Given the description of an element on the screen output the (x, y) to click on. 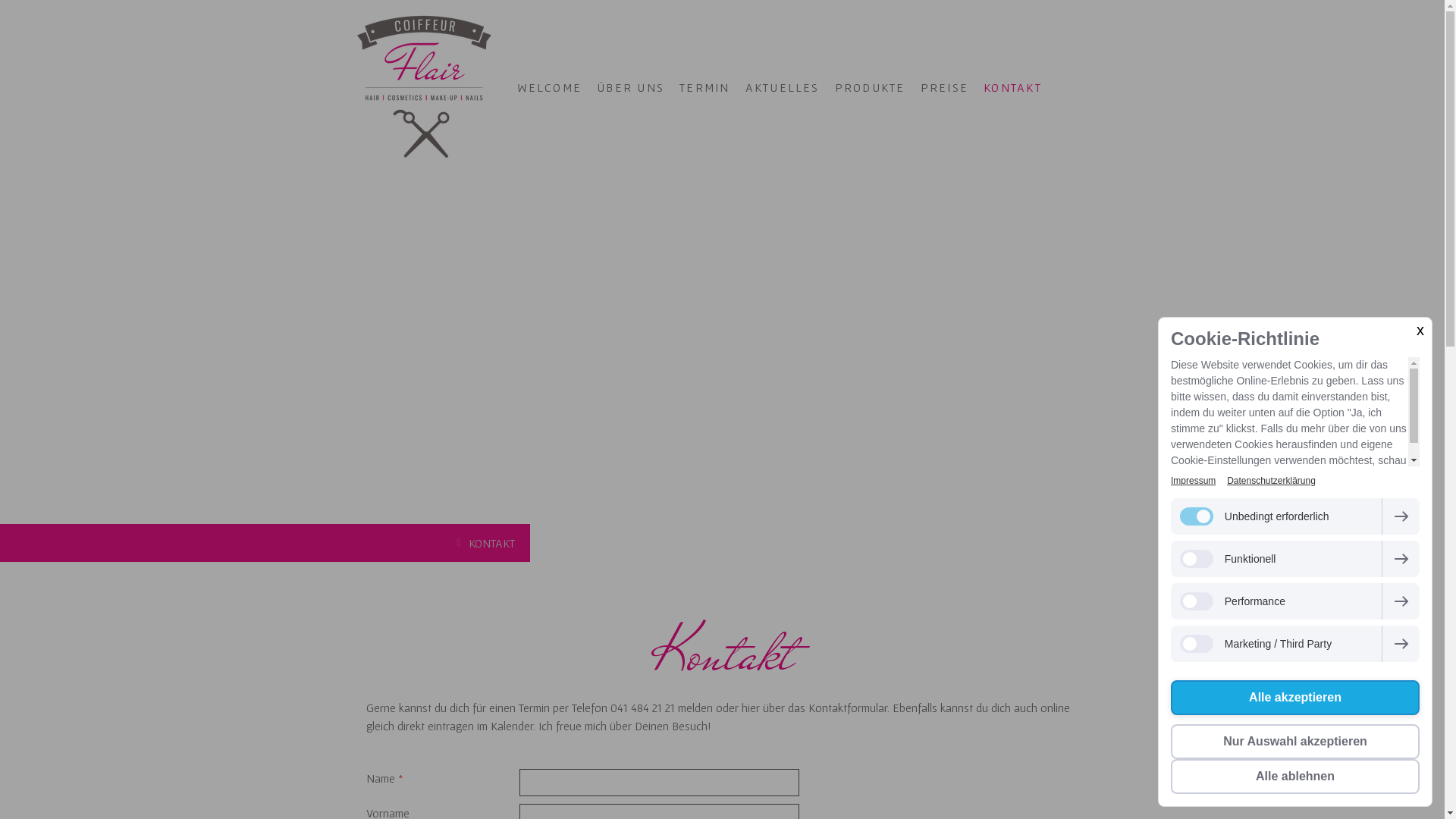
AKTUELLES Element type: text (782, 86)
Impressum Element type: text (1192, 480)
TERMIN Element type: text (704, 86)
KONTAKT Element type: text (487, 542)
WELCOME Element type: text (549, 86)
Alle ablehnen Element type: text (1294, 776)
Alle akzeptieren Element type: text (1294, 697)
PREISE Element type: text (944, 86)
KONTAKT Element type: text (1012, 86)
Nur Auswahl akzeptieren Element type: text (1294, 741)
PRODUKTE Element type: text (870, 86)
